Given the description of an element on the screen output the (x, y) to click on. 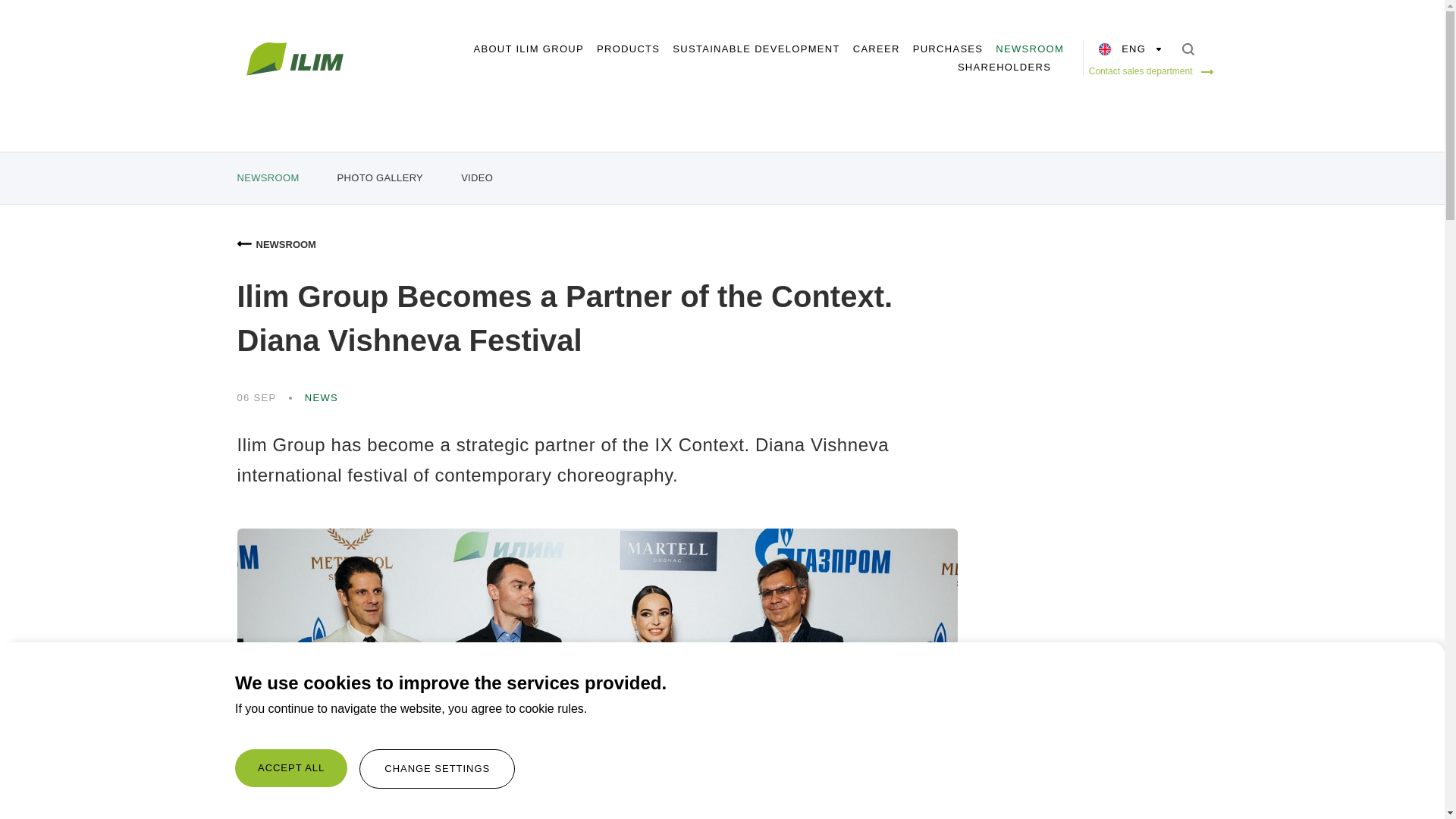
NEWSROOM (1029, 49)
SUSTAINABLE DEVELOPMENT (756, 49)
PHOTO GALLERY (380, 177)
VIDEO (477, 177)
NEWSROOM (266, 177)
PRODUCTS (627, 49)
Contact sales department (1156, 72)
PURCHASES (948, 49)
CAREER (876, 49)
ABOUT ILIM GROUP (528, 49)
SHAREHOLDERS (1004, 67)
